Given the description of an element on the screen output the (x, y) to click on. 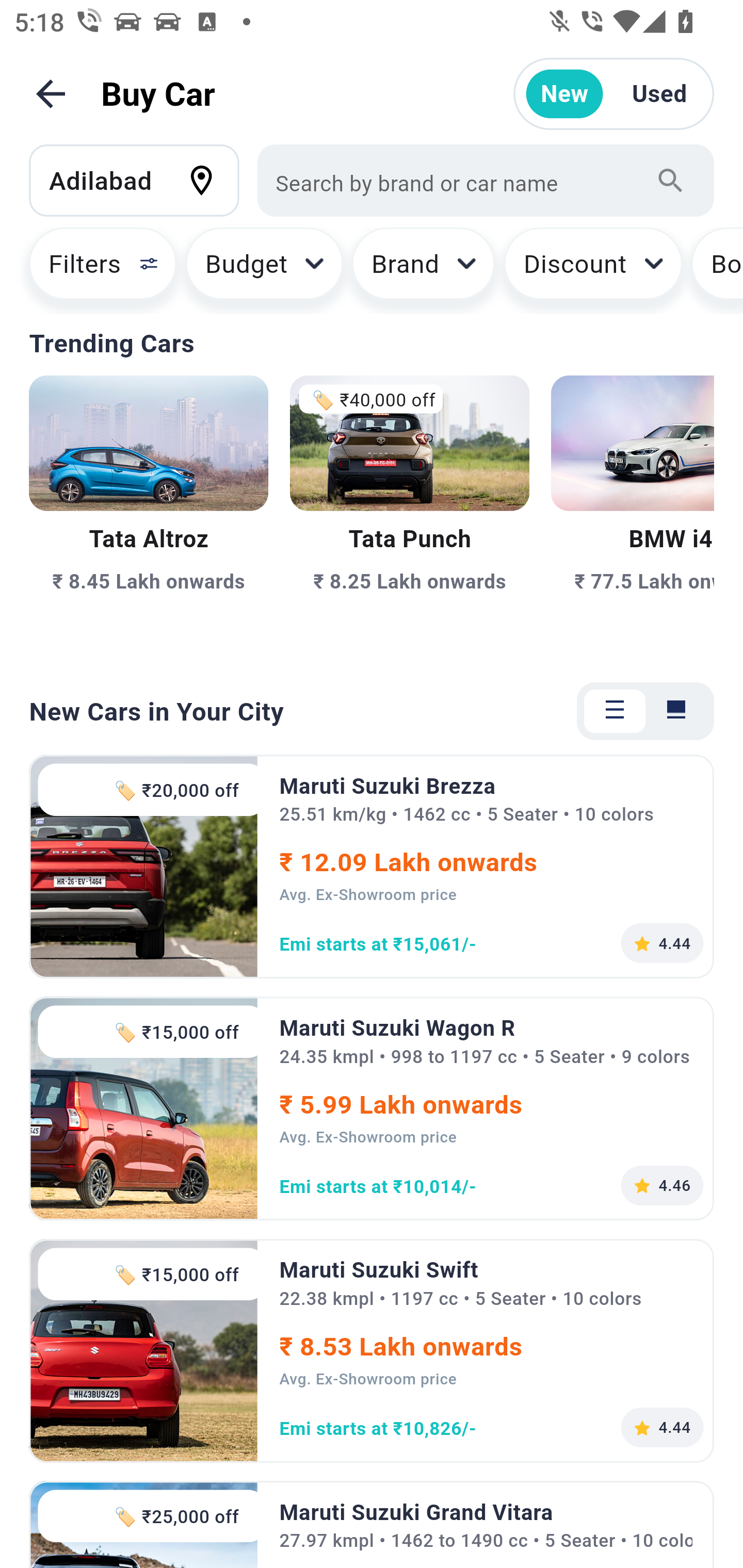
Back (50, 93)
New (564, 93)
Used (659, 93)
Adilabad (142, 180)
Filters (93, 270)
Budget (264, 270)
Brand (423, 270)
Discount (592, 270)
₹ 8.45 Lakh onwards Tata Altroz (148, 515)
🏷️ ₹40,000 off
₹ 8.25 Lakh onwards Tata Punch (409, 515)
₹ 77.5 Lakh onwards BMW i4 (632, 515)
Tab 1 of 2 (614, 710)
Tab 2 of 2 (675, 710)
